Given the description of an element on the screen output the (x, y) to click on. 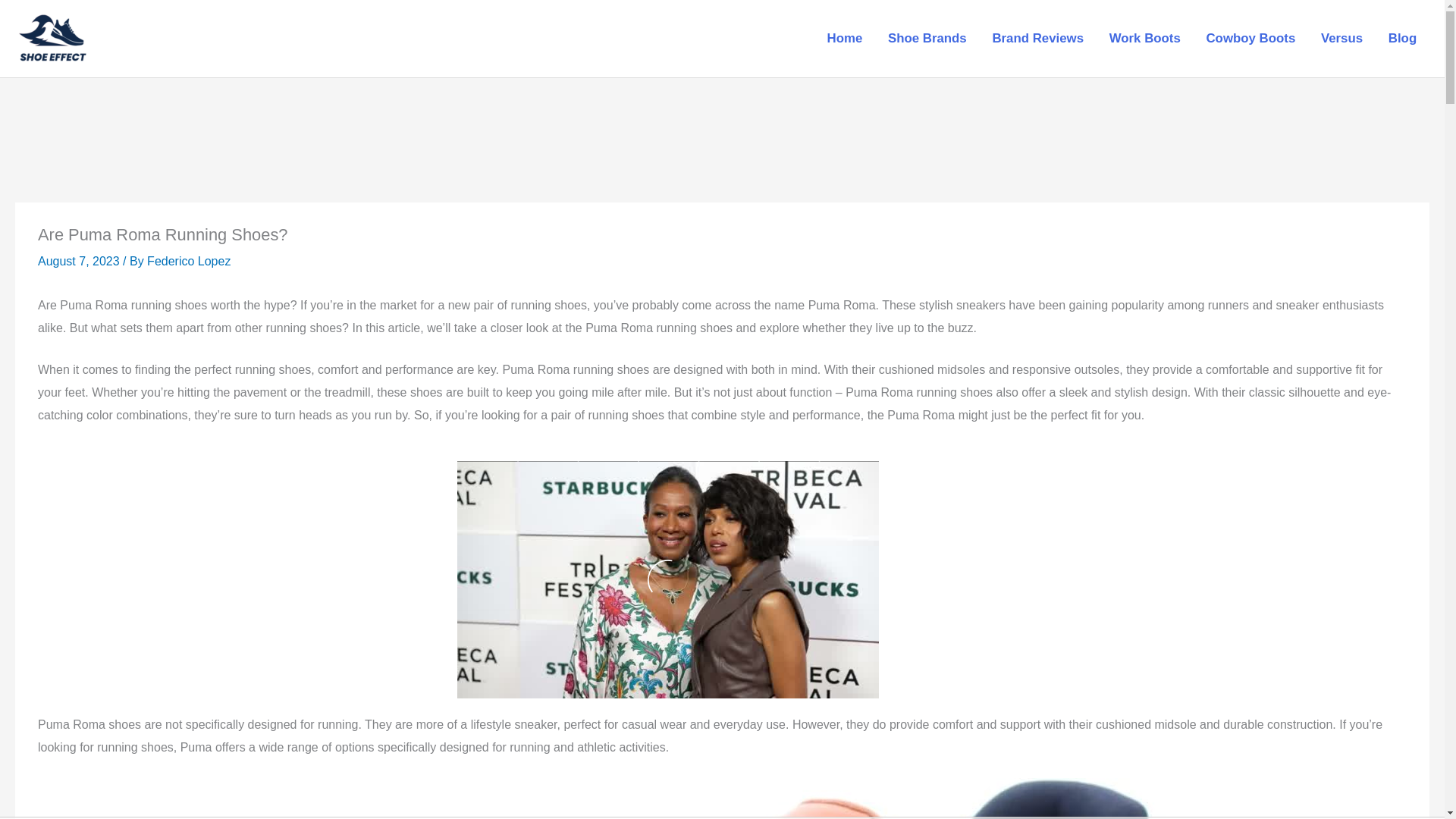
Home (844, 38)
Shoe Brands (926, 38)
Versus (1341, 38)
Work Boots (1144, 38)
View all posts by Federico Lopez (188, 260)
Blog (1402, 38)
Federico Lopez (188, 260)
Cowboy Boots (1250, 38)
Brand Reviews (1037, 38)
